Given the description of an element on the screen output the (x, y) to click on. 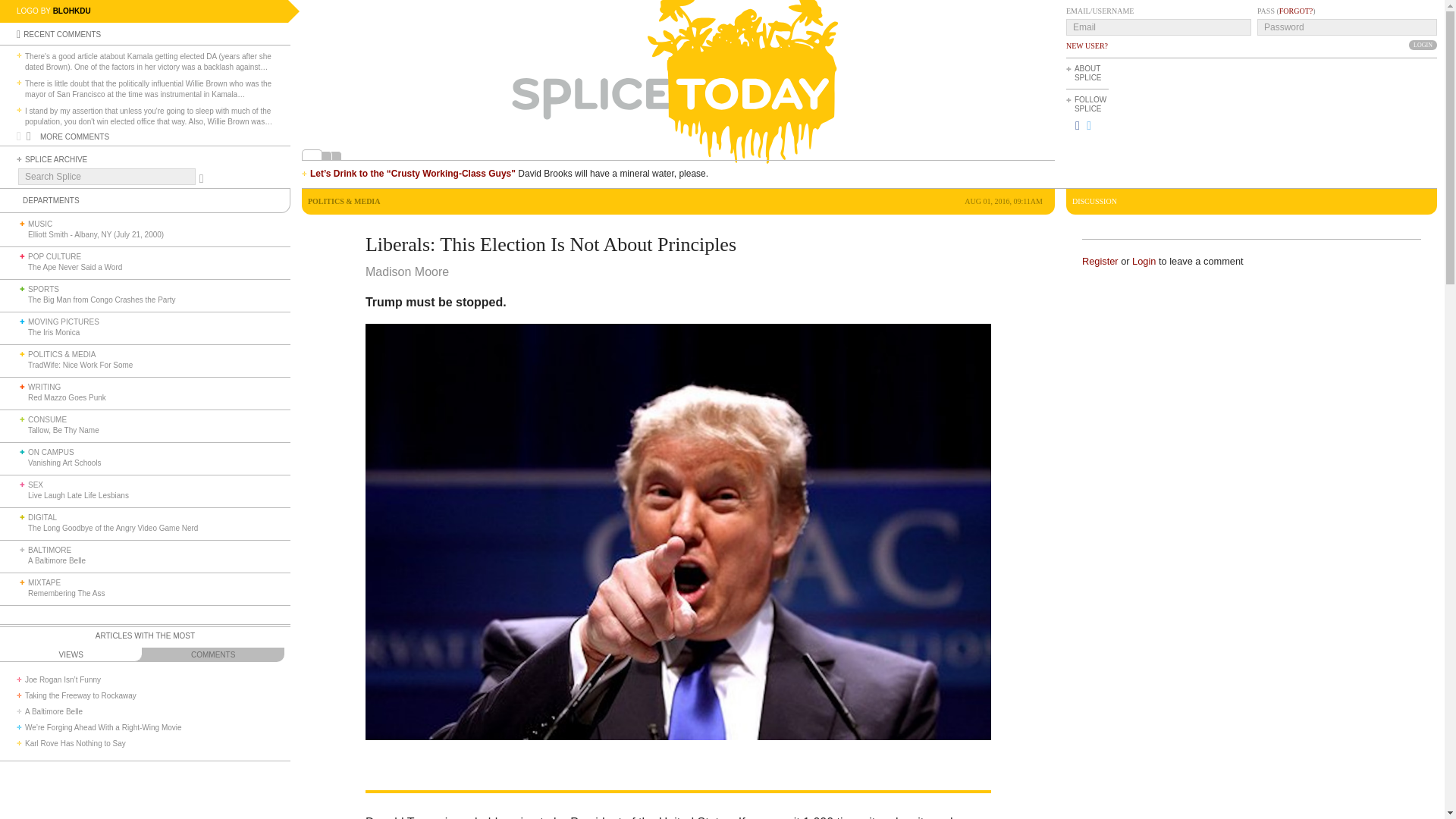
BLOHKDU (71, 10)
The Big Man from Congo Crashes the Party (101, 299)
MUSIC (39, 224)
ABOUT SPLICE (1088, 72)
SEX (35, 484)
Vanishing Art Schools (64, 462)
Login (1423, 44)
FORGOT? (1296, 10)
Advertisement (1368, 121)
The Ape Never Said a Word (74, 266)
